Given the description of an element on the screen output the (x, y) to click on. 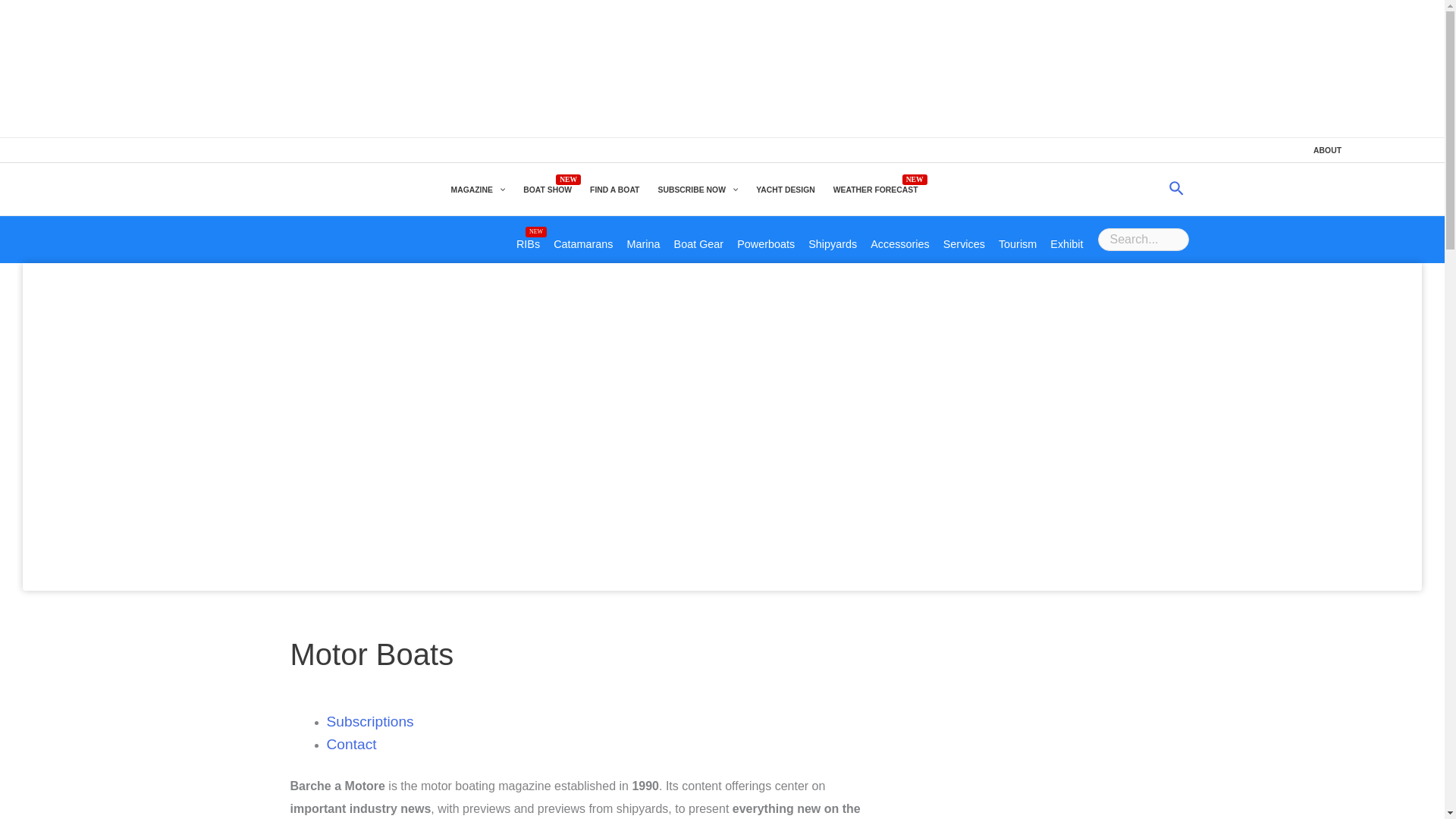
SUBSCRIBE NOW (696, 190)
BOAT SHOW (546, 190)
ABOUT (1327, 150)
WEATHER FORECAST (875, 190)
Page 2 (579, 796)
YACHT DESIGN (785, 190)
FIND A BOAT (613, 190)
MAGAZINE (477, 190)
